Given the description of an element on the screen output the (x, y) to click on. 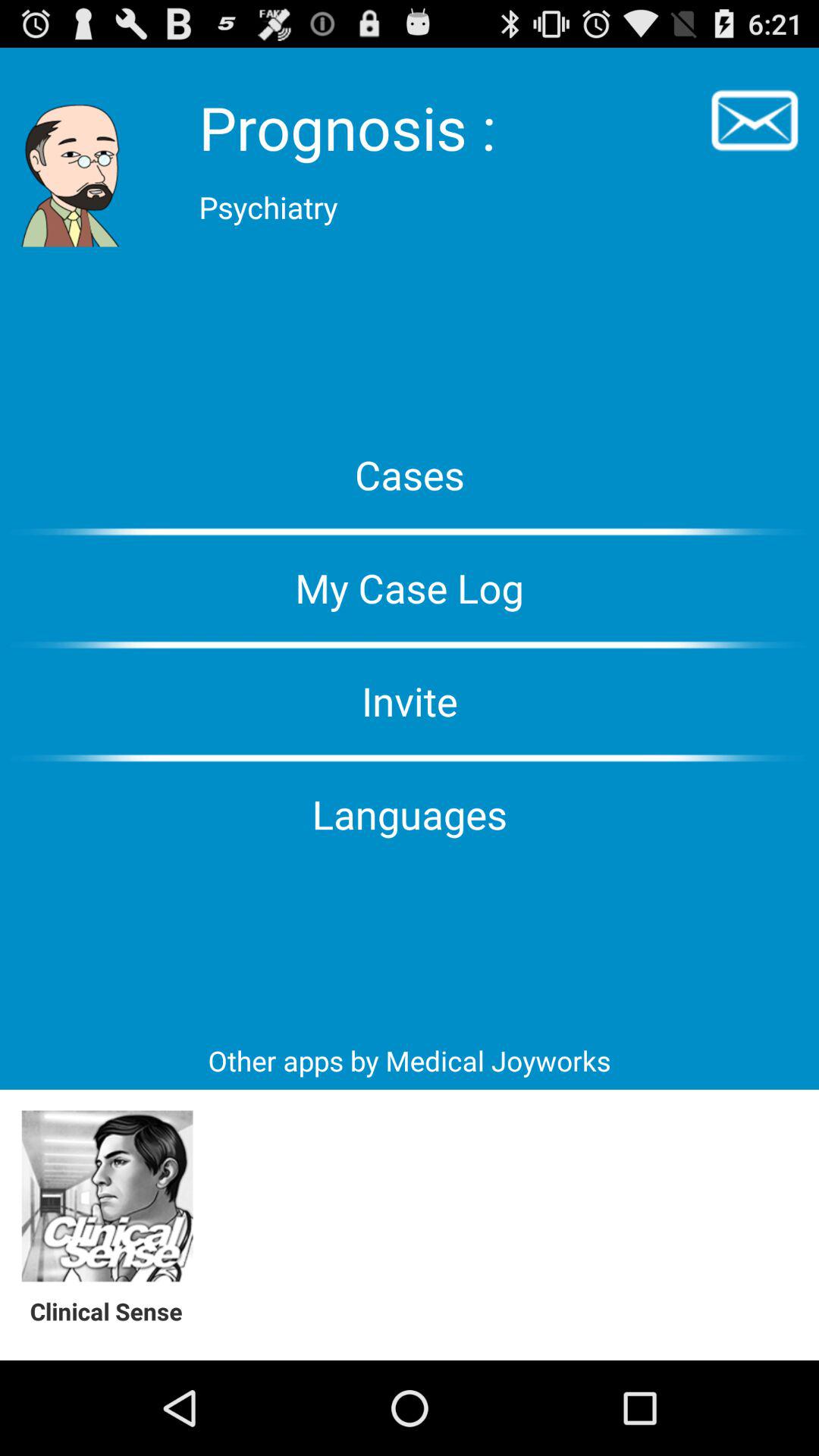
turn off icon above clinical sense (107, 1196)
